Given the description of an element on the screen output the (x, y) to click on. 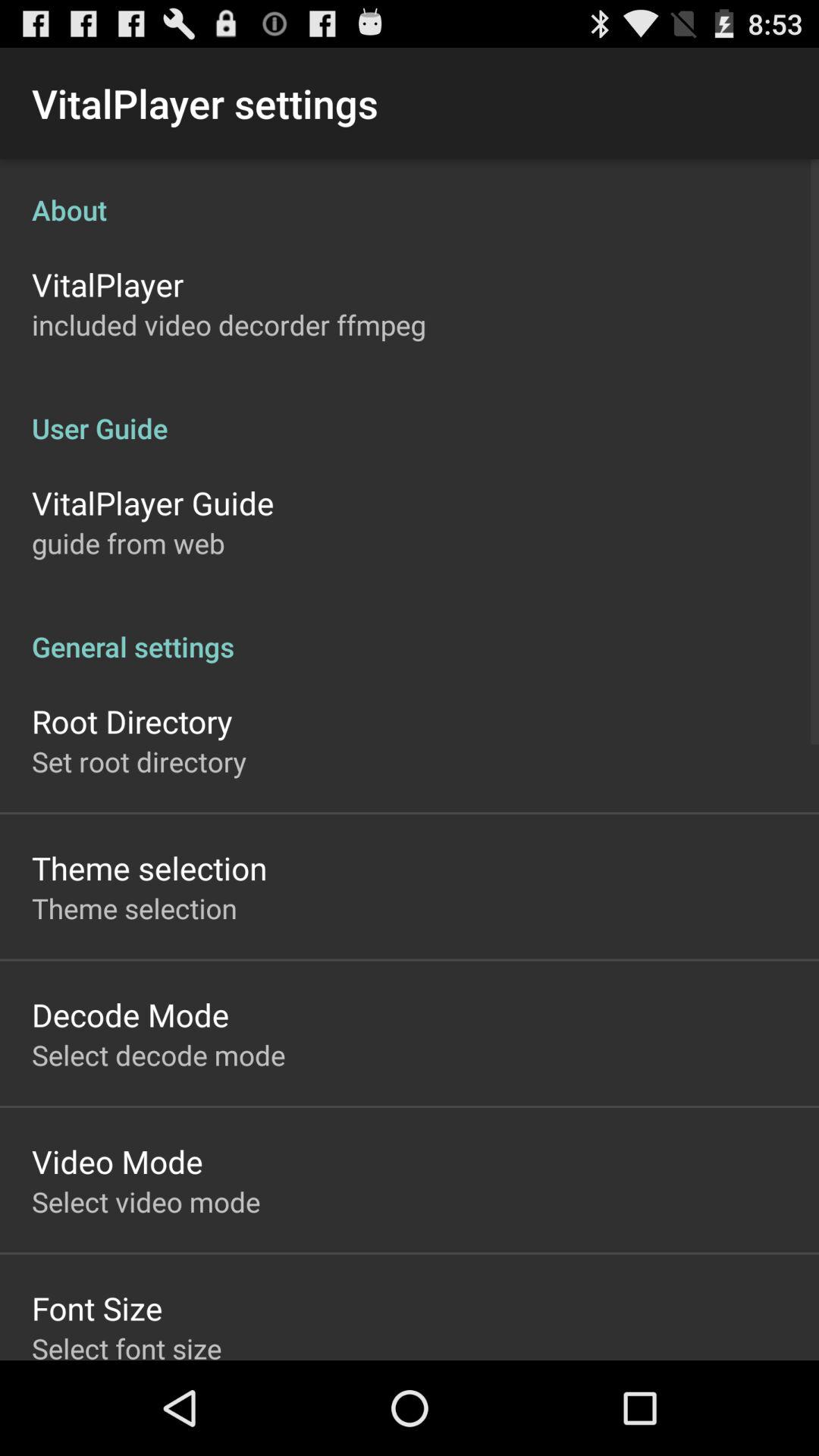
press the included video decorder icon (228, 324)
